Given the description of an element on the screen output the (x, y) to click on. 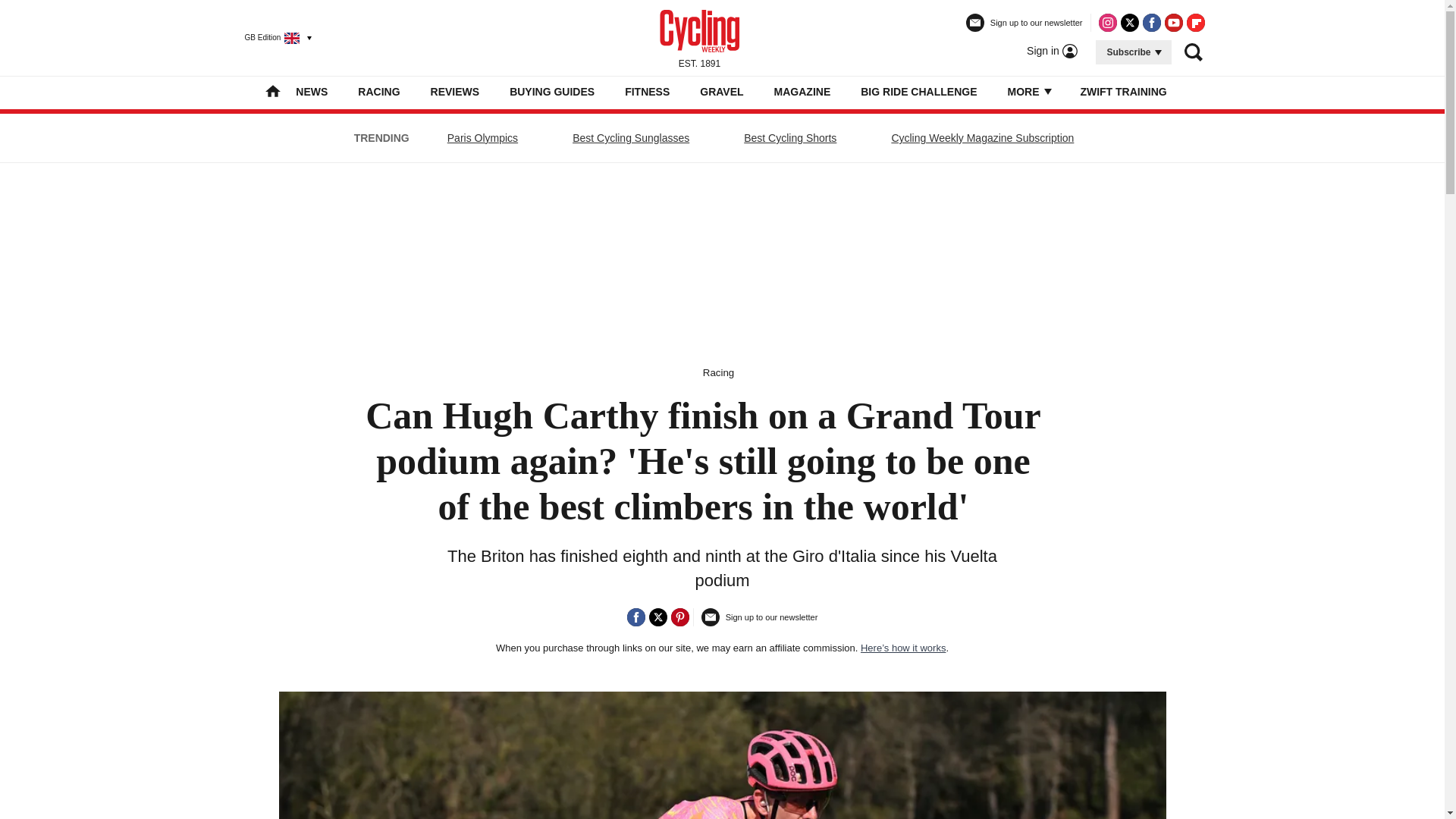
BUYING GUIDES (551, 91)
Paris Olympics (482, 137)
MAGAZINE (802, 91)
RACING (378, 91)
GRAVEL (721, 91)
EST. 1891 (699, 37)
NEWS (311, 91)
REVIEWS (455, 91)
Best Cycling Sunglasses (630, 137)
Sign up to our newsletter (1024, 28)
